Given the description of an element on the screen output the (x, y) to click on. 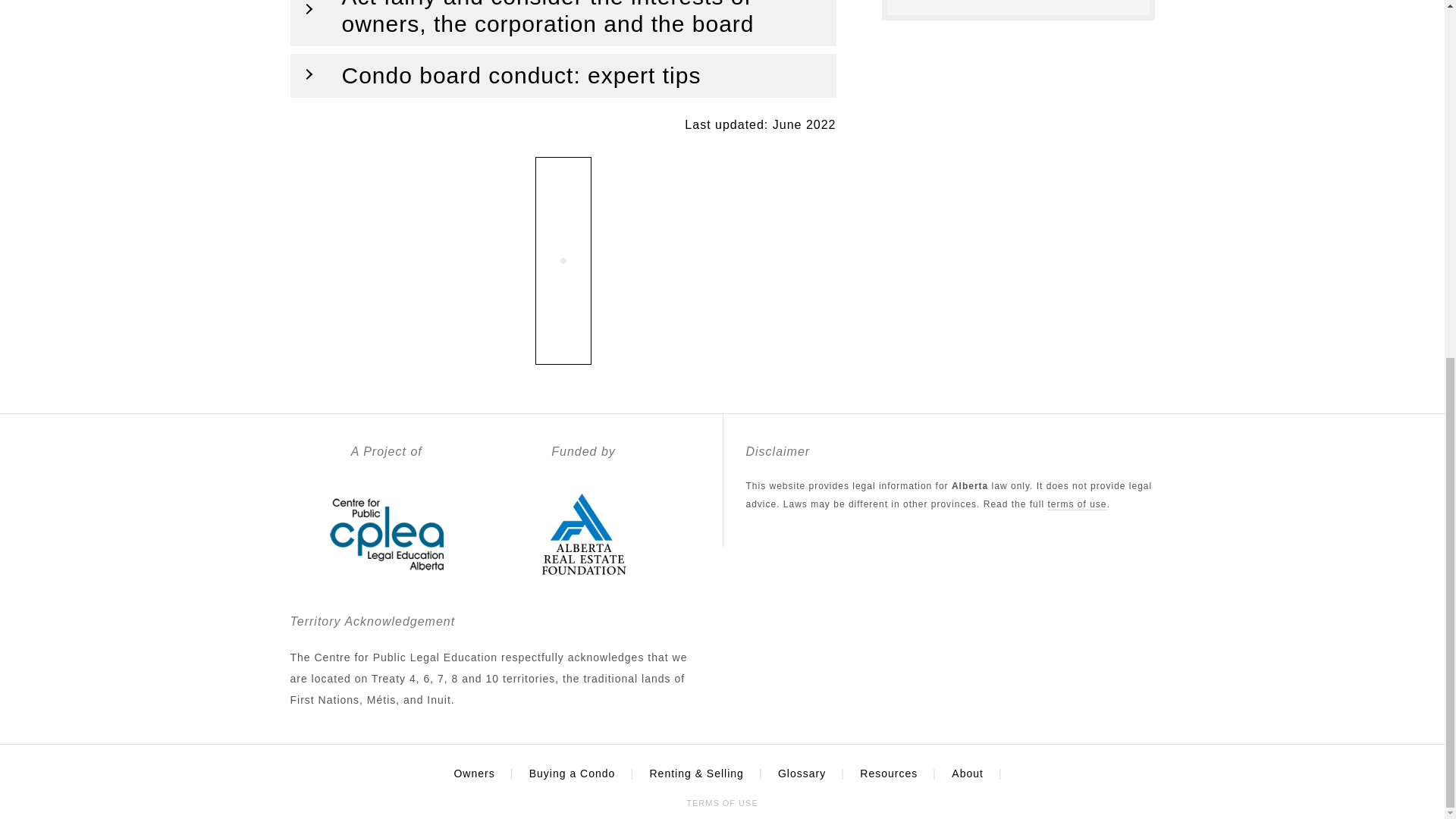
Funded by (583, 583)
A Project of (387, 583)
